Given the description of an element on the screen output the (x, y) to click on. 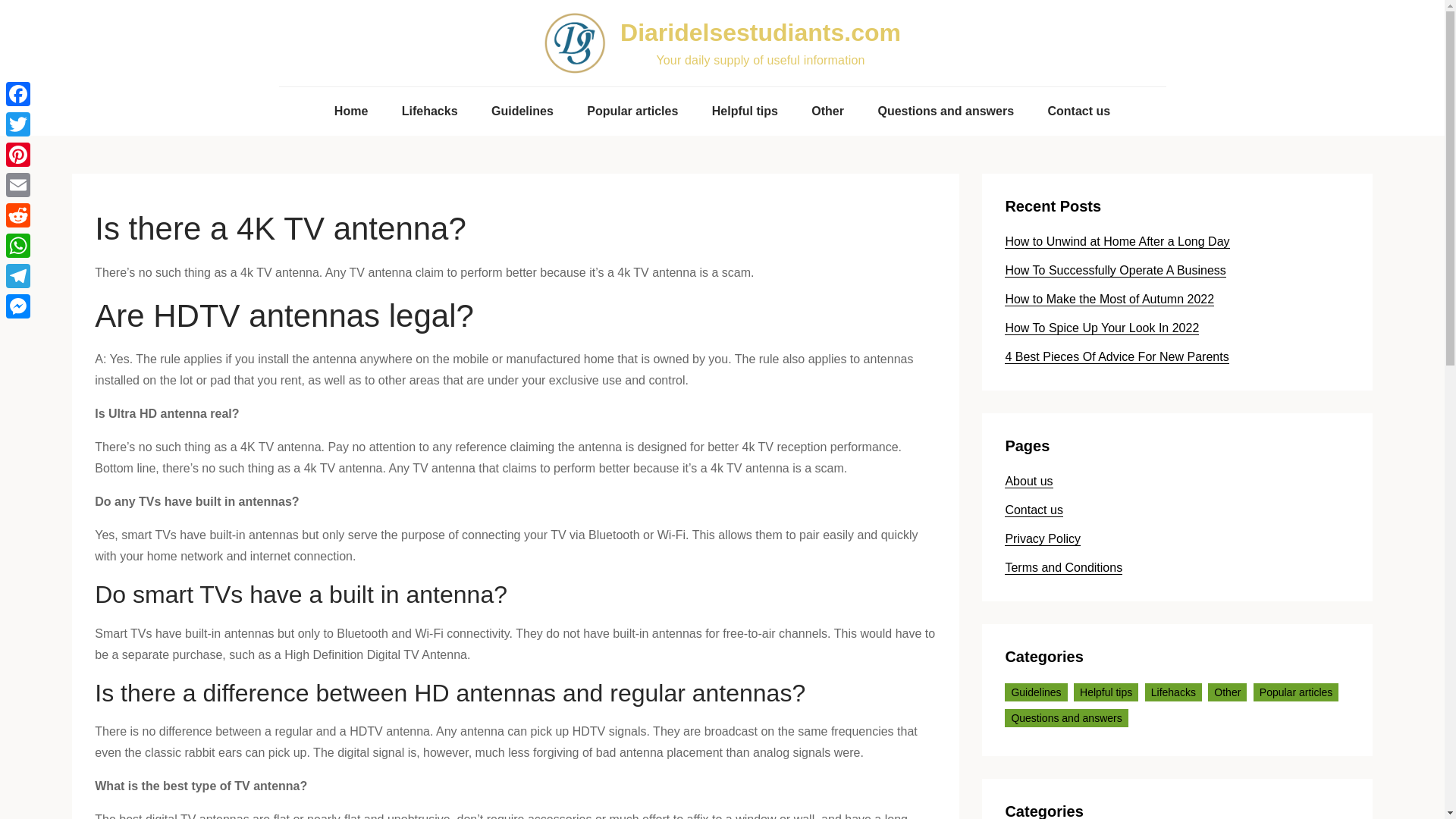
Terms and Conditions (1063, 567)
How to Unwind at Home After a Long Day (1116, 241)
Privacy Policy (1042, 539)
Facebook (17, 93)
Lifehacks (430, 110)
Questions and answers (945, 110)
How To Successfully Operate A Business (1114, 270)
How To Spice Up Your Look In 2022 (1101, 327)
Messenger (17, 306)
Other (827, 110)
Email (17, 184)
Diaridelsestudiants.com (760, 31)
Telegram (17, 276)
Lifehacks (1173, 692)
About us (1028, 481)
